Given the description of an element on the screen output the (x, y) to click on. 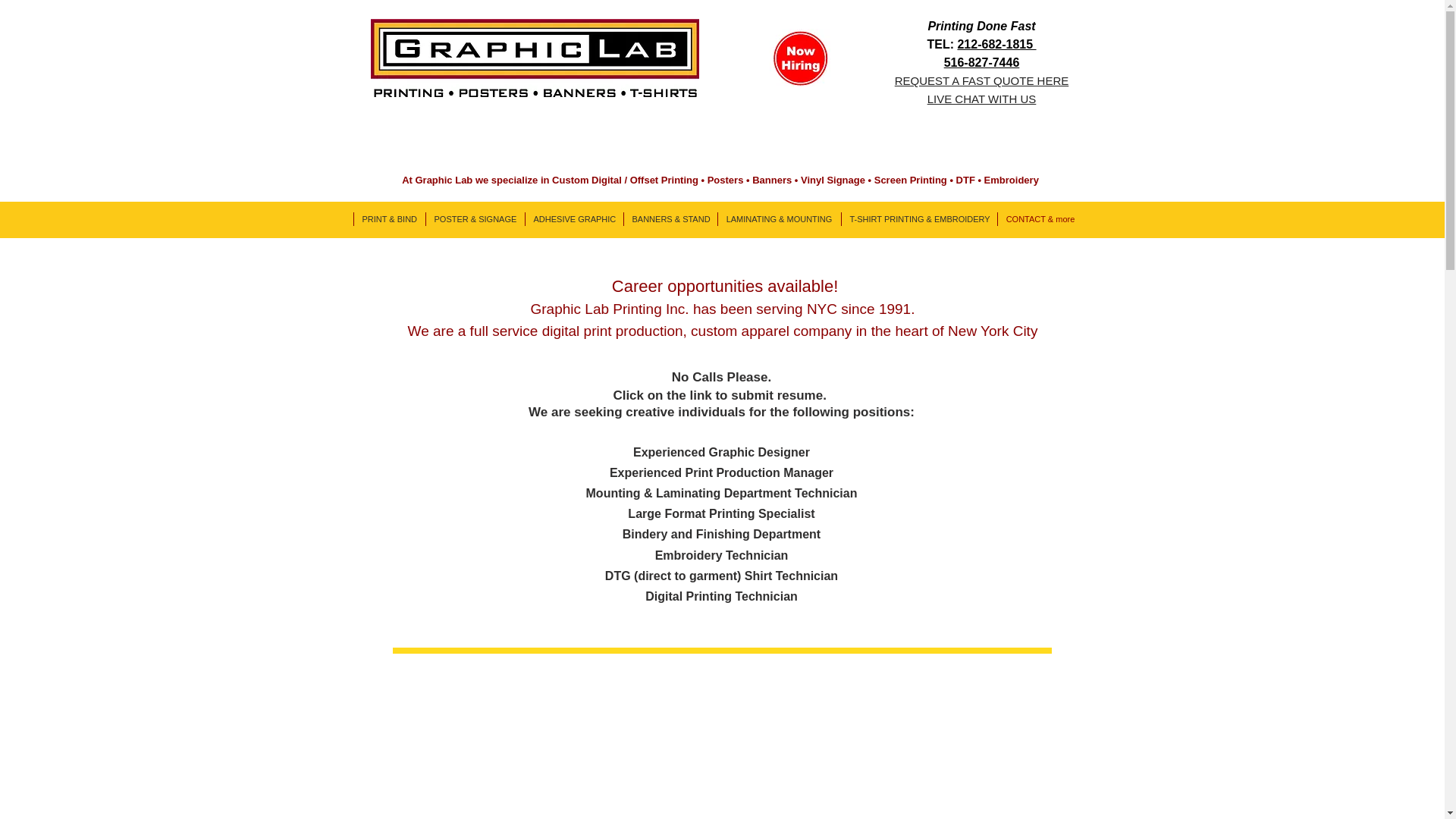
LIVE CHAT WITH US (981, 98)
516-827-7446 (981, 62)
Click here to return to the home page (533, 57)
212-682-1815  (995, 43)
REQUEST A FAST QUOTE HERE (981, 80)
